Given the description of an element on the screen output the (x, y) to click on. 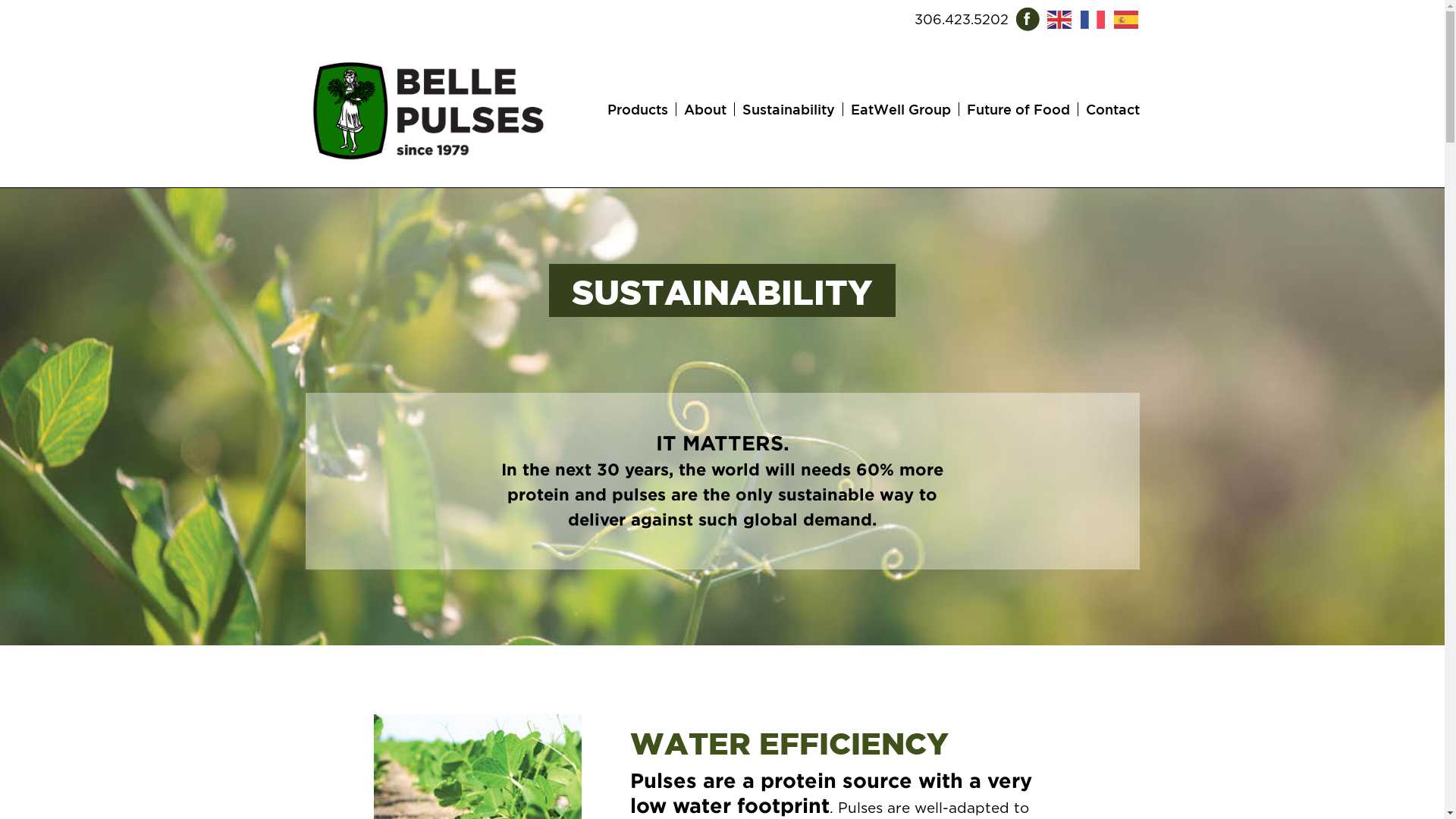
About Element type: text (705, 108)
Future of Food Element type: text (1017, 108)
Spanish Element type: hover (1126, 18)
Contact Element type: text (1112, 108)
French Element type: hover (1092, 18)
306.423.5202 Element type: text (961, 19)
Products Element type: text (636, 108)
EatWell Group Element type: text (900, 108)
Sustainability Element type: text (787, 108)
English Element type: hover (1059, 18)
